Given the description of an element on the screen output the (x, y) to click on. 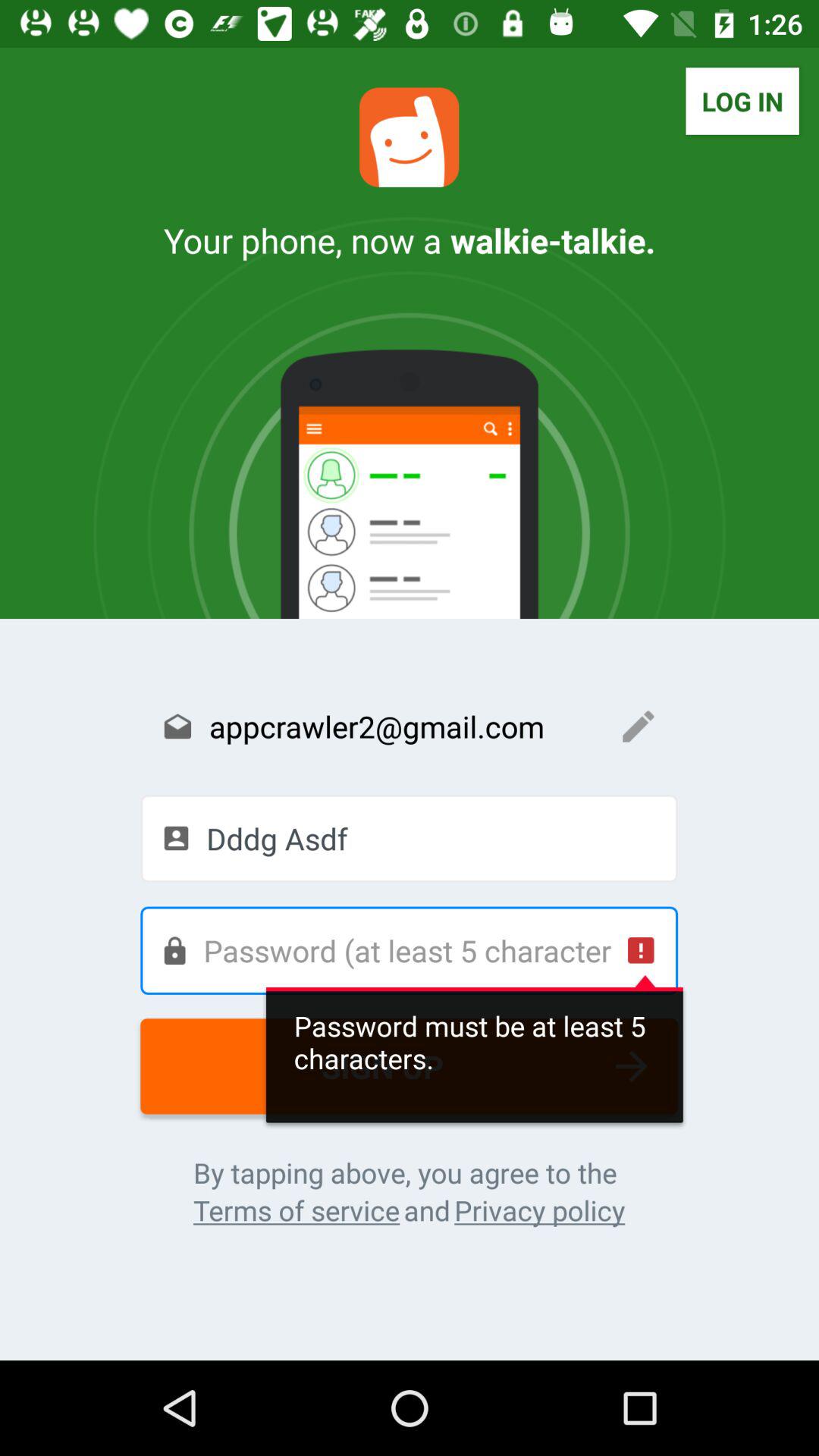
press privacy policy icon (539, 1210)
